Given the description of an element on the screen output the (x, y) to click on. 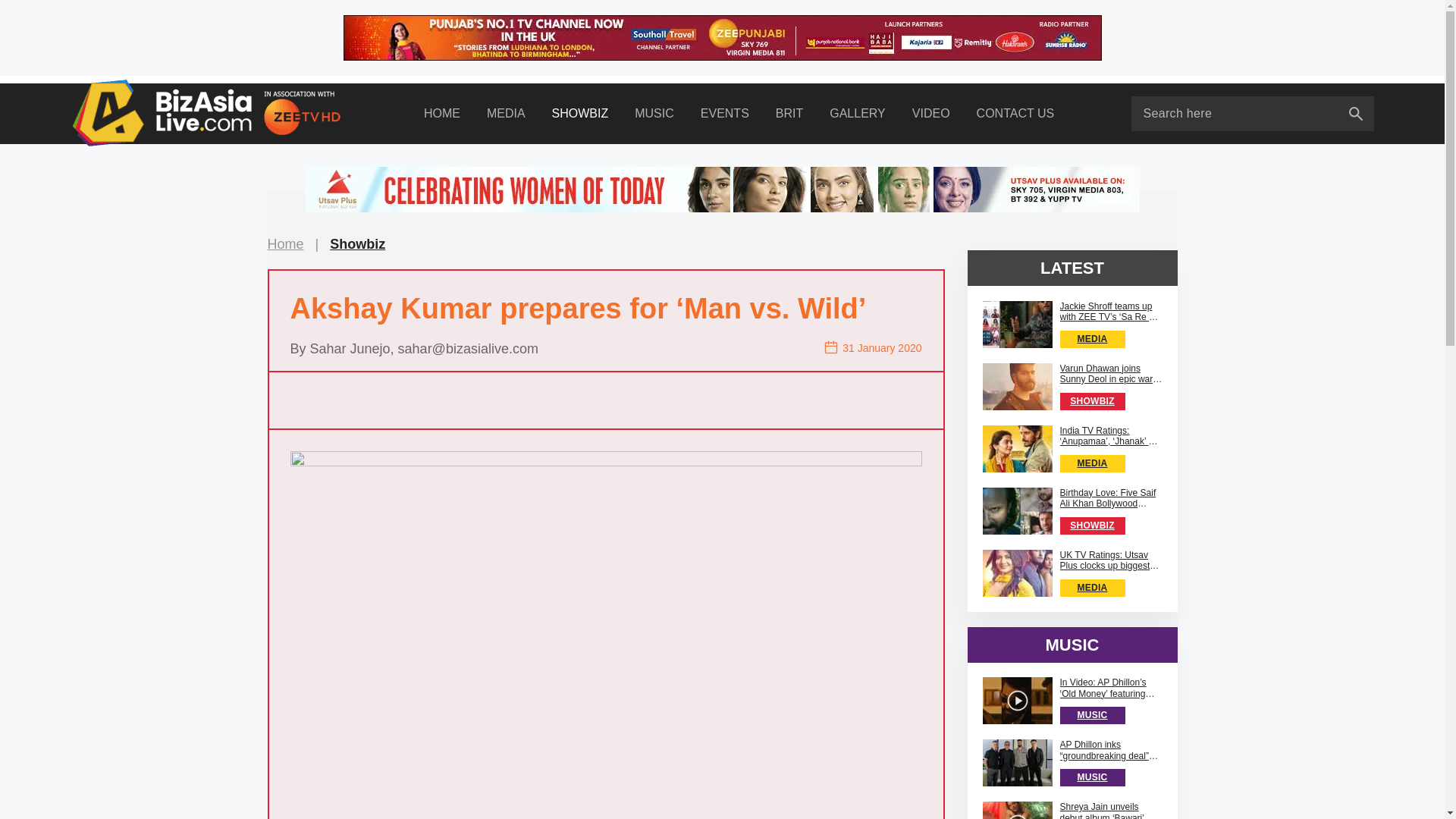
MEDIA (505, 113)
EVENTS (724, 113)
MUSIC (654, 113)
SHOWBIZ (579, 113)
Top header Banner (721, 37)
GALLERY (857, 113)
HOME (441, 113)
